Given the description of an element on the screen output the (x, y) to click on. 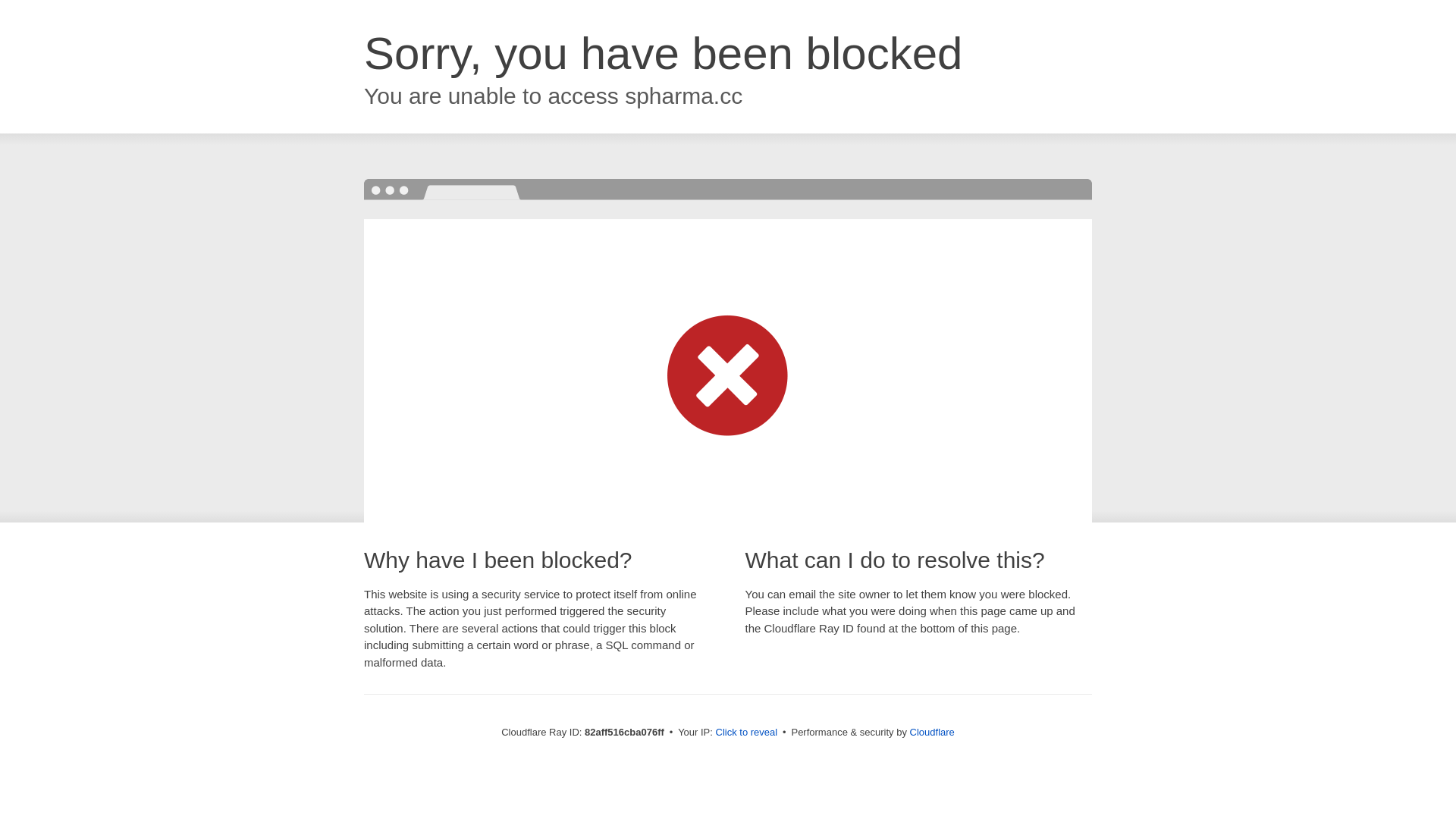
Click to reveal Element type: text (746, 732)
Cloudflare Element type: text (932, 731)
